Given the description of an element on the screen output the (x, y) to click on. 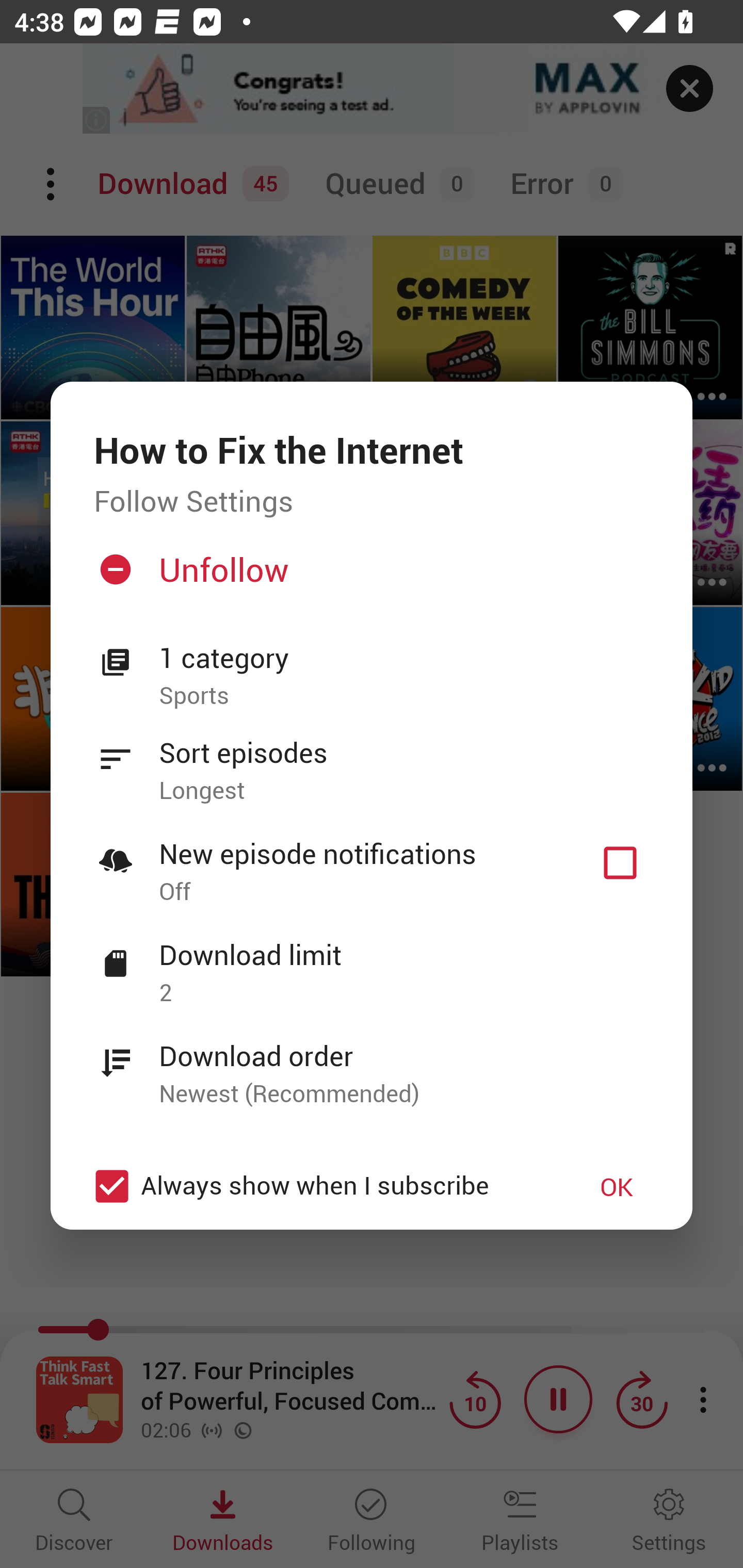
Unfollow (369, 576)
1 category (404, 658)
Sports (404, 696)
Sort episodes Longest (371, 760)
New episode notifications (620, 863)
Download limit 2 (371, 962)
Download order Newest (Recommended) (371, 1063)
OK (616, 1186)
Always show when I subscribe (320, 1186)
